Given the description of an element on the screen output the (x, y) to click on. 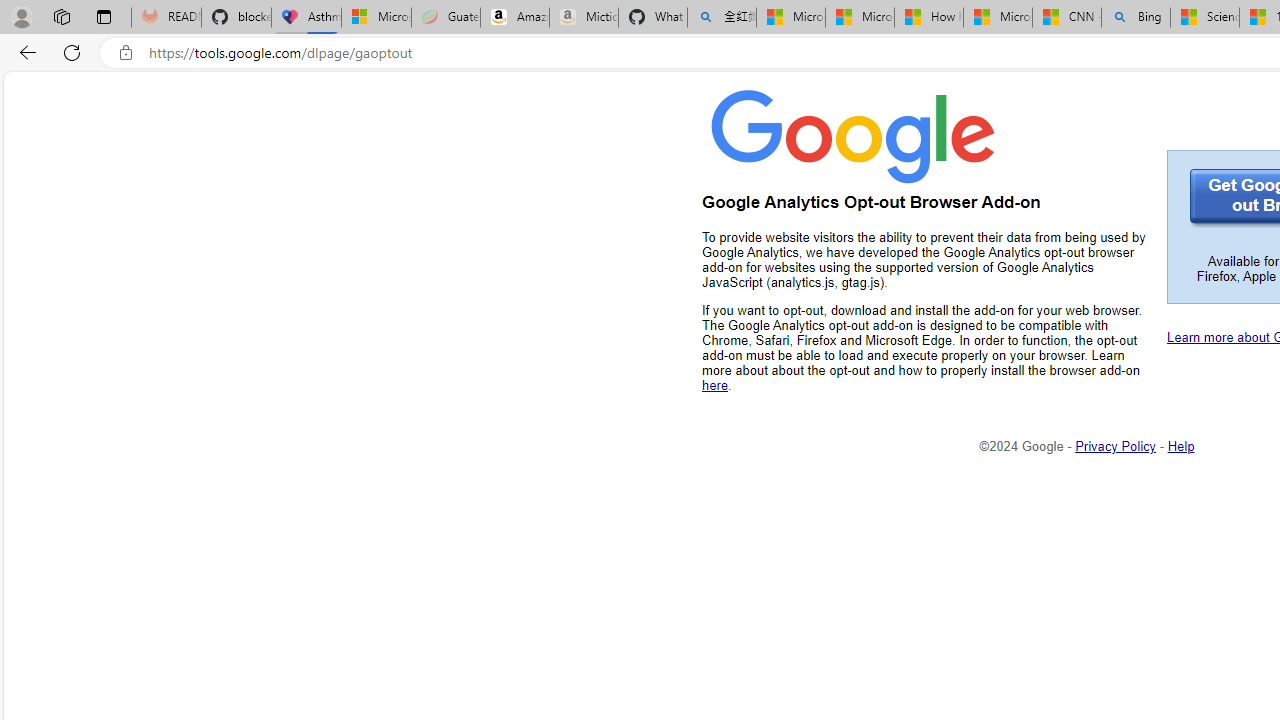
here (715, 385)
Bing (1135, 17)
Science - MSN (1205, 17)
CNN - MSN (1066, 17)
Microsoft-Report a Concern to Bing (375, 17)
